Given the description of an element on the screen output the (x, y) to click on. 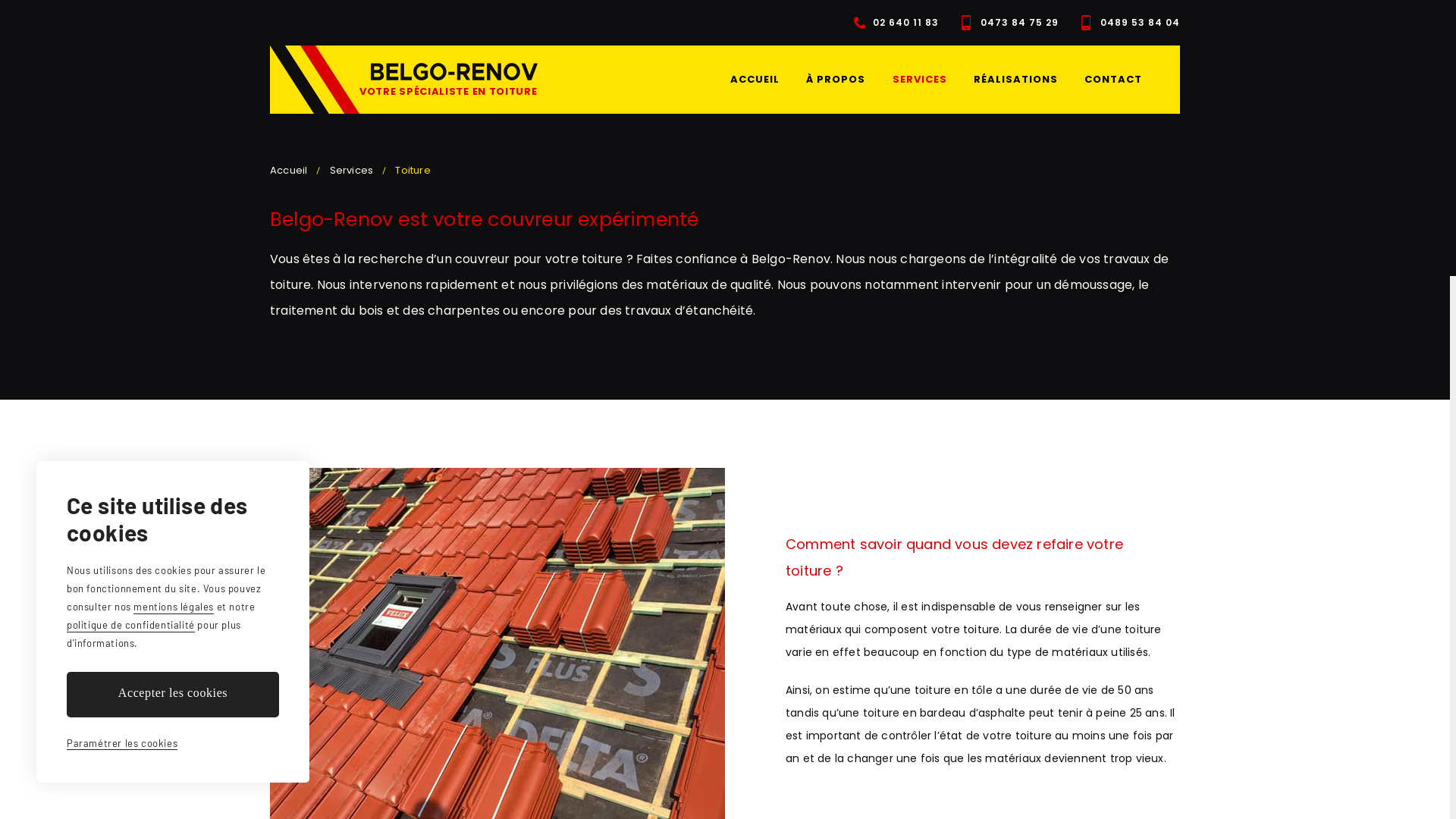
CONTACT Element type: text (1113, 79)
ACCUEIL Element type: text (754, 79)
0473 84 75 29 Element type: text (1009, 22)
Toiture Element type: text (412, 170)
Accueil Element type: text (288, 170)
02 640 11 83 Element type: text (895, 22)
SERVICES Element type: text (919, 79)
Services Element type: text (351, 170)
0489 53 84 04 Element type: text (1130, 22)
